Given the description of an element on the screen output the (x, y) to click on. 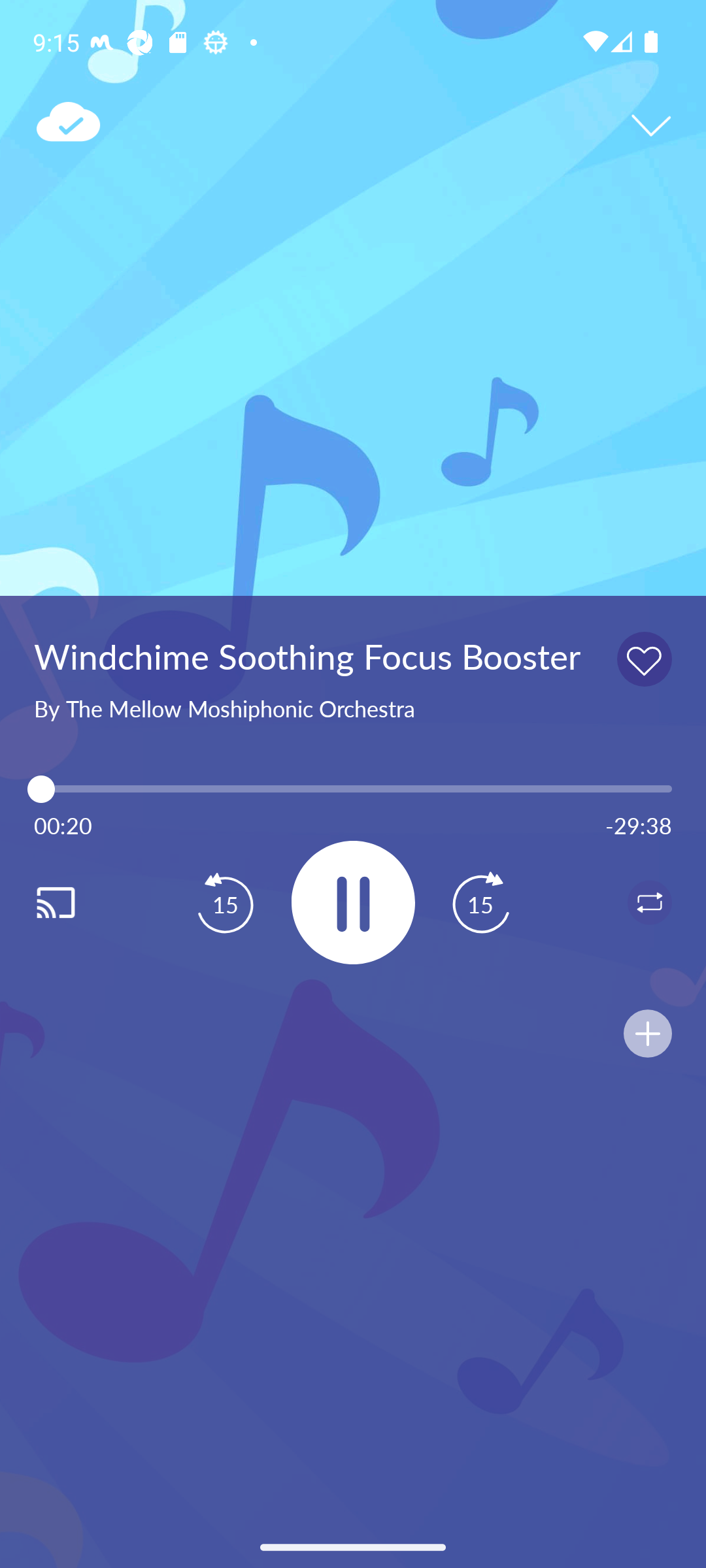
20.0 (352, 789)
Cast. Disconnected (76, 902)
